Given the description of an element on the screen output the (x, y) to click on. 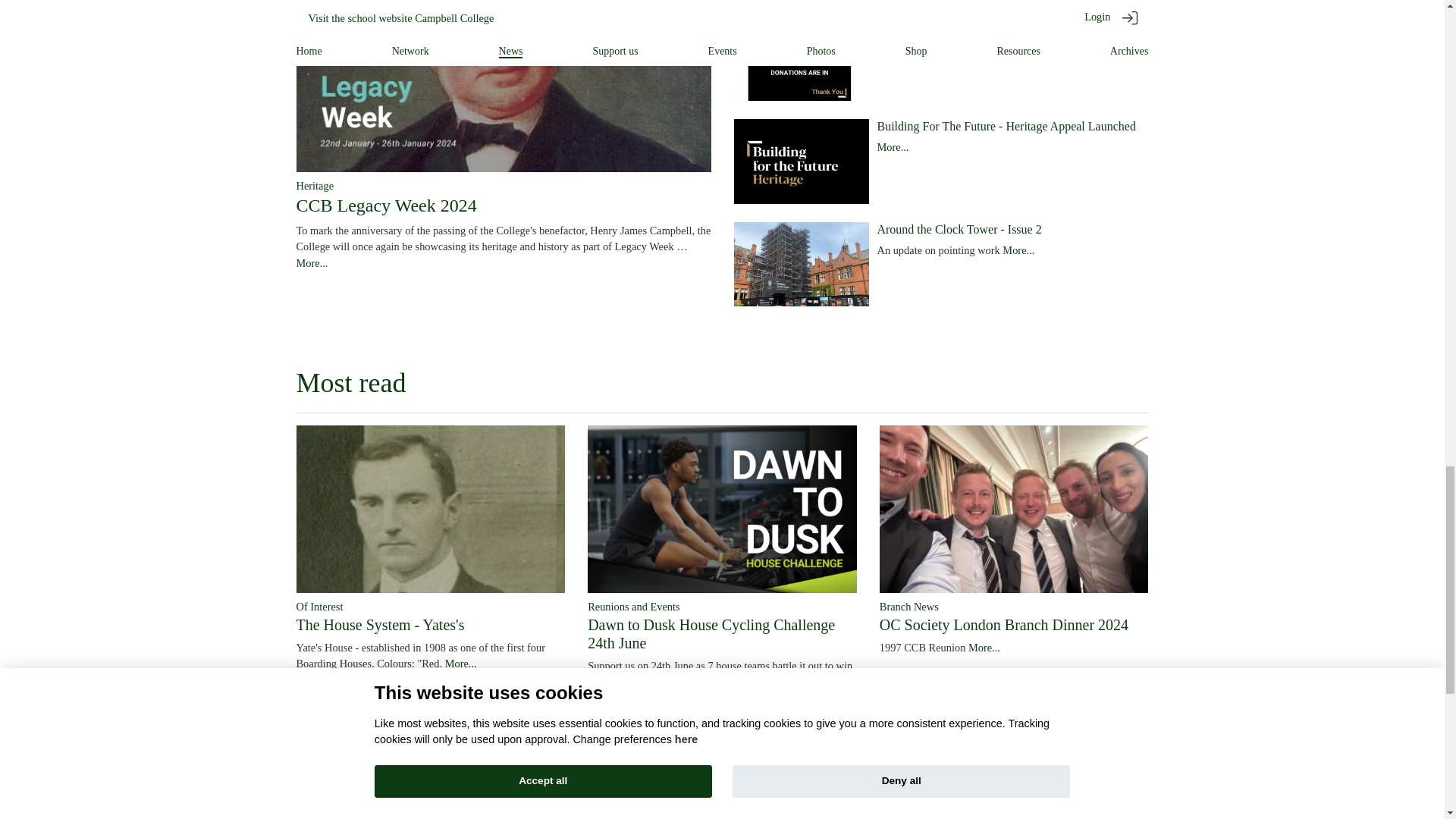
CCB Legacy Week 2024 (385, 205)
Heritage (314, 185)
More... (311, 263)
